Given the description of an element on the screen output the (x, y) to click on. 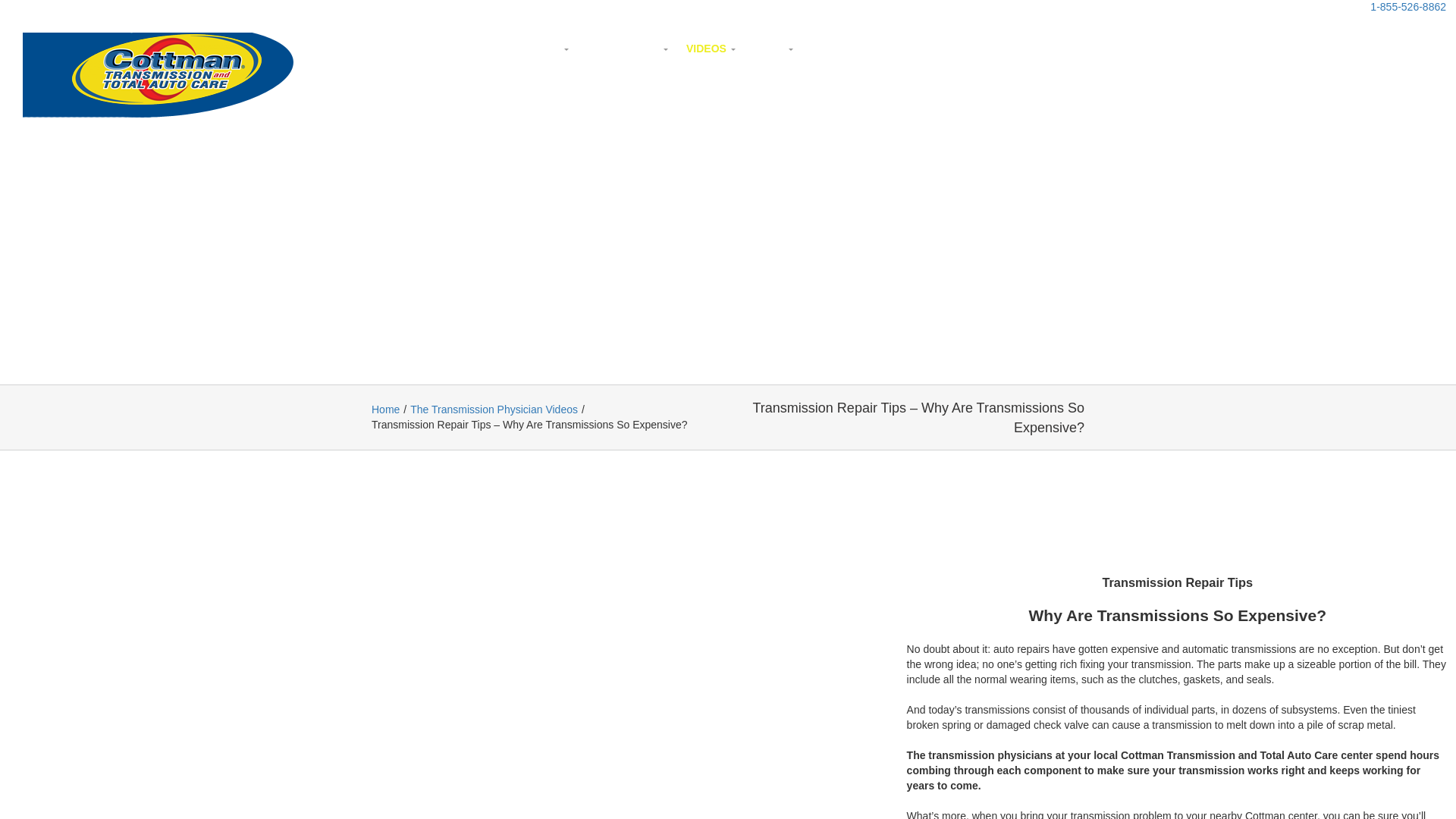
HOME (431, 49)
TRANSMISSIONS (516, 49)
The Cottman Man Educational Series Videos (707, 49)
AUTO REPAIR (624, 49)
Cottman Transmission (431, 49)
